Given the description of an element on the screen output the (x, y) to click on. 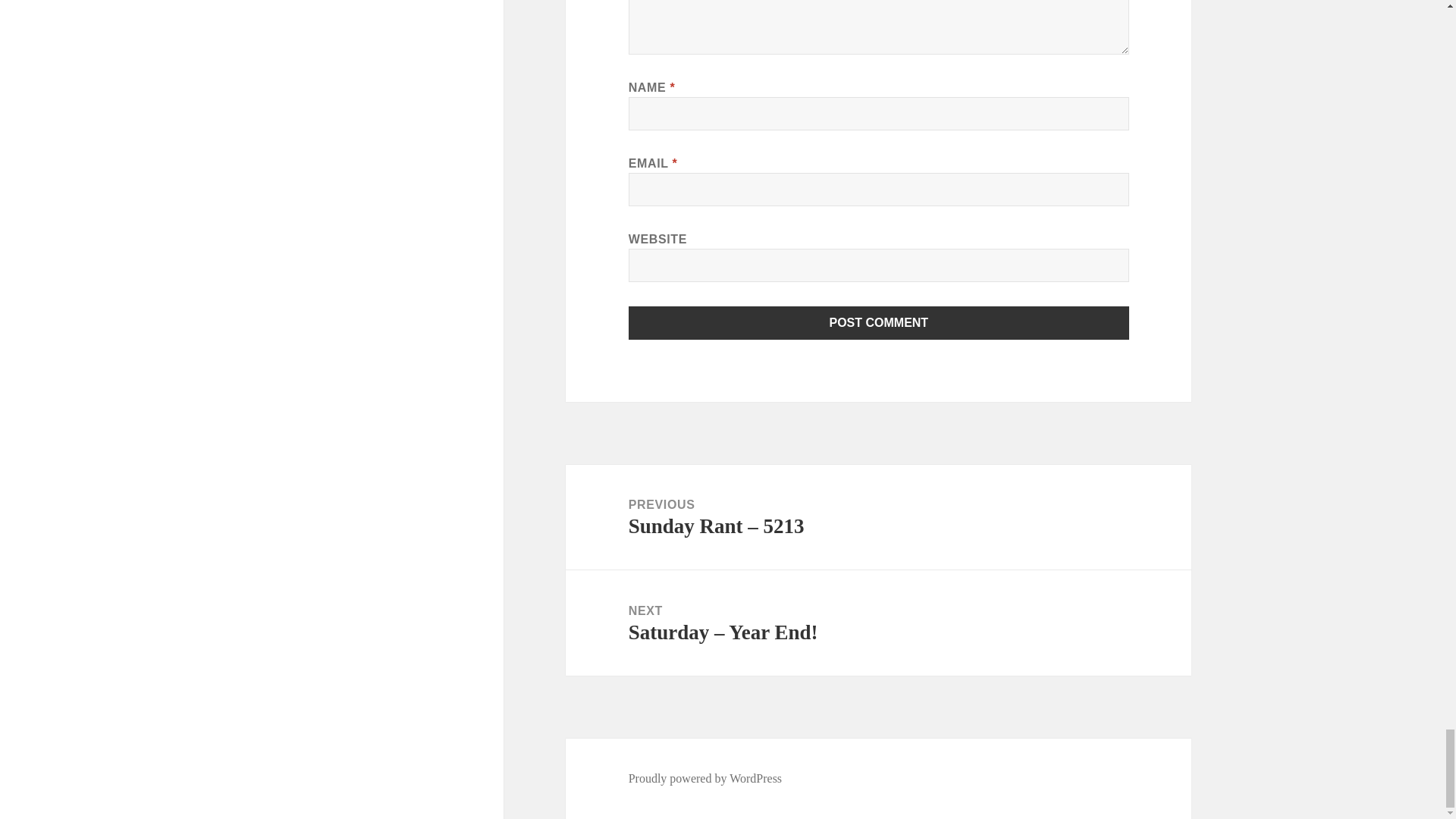
Proudly powered by WordPress (704, 778)
Post Comment (878, 322)
Post Comment (878, 322)
